Given the description of an element on the screen output the (x, y) to click on. 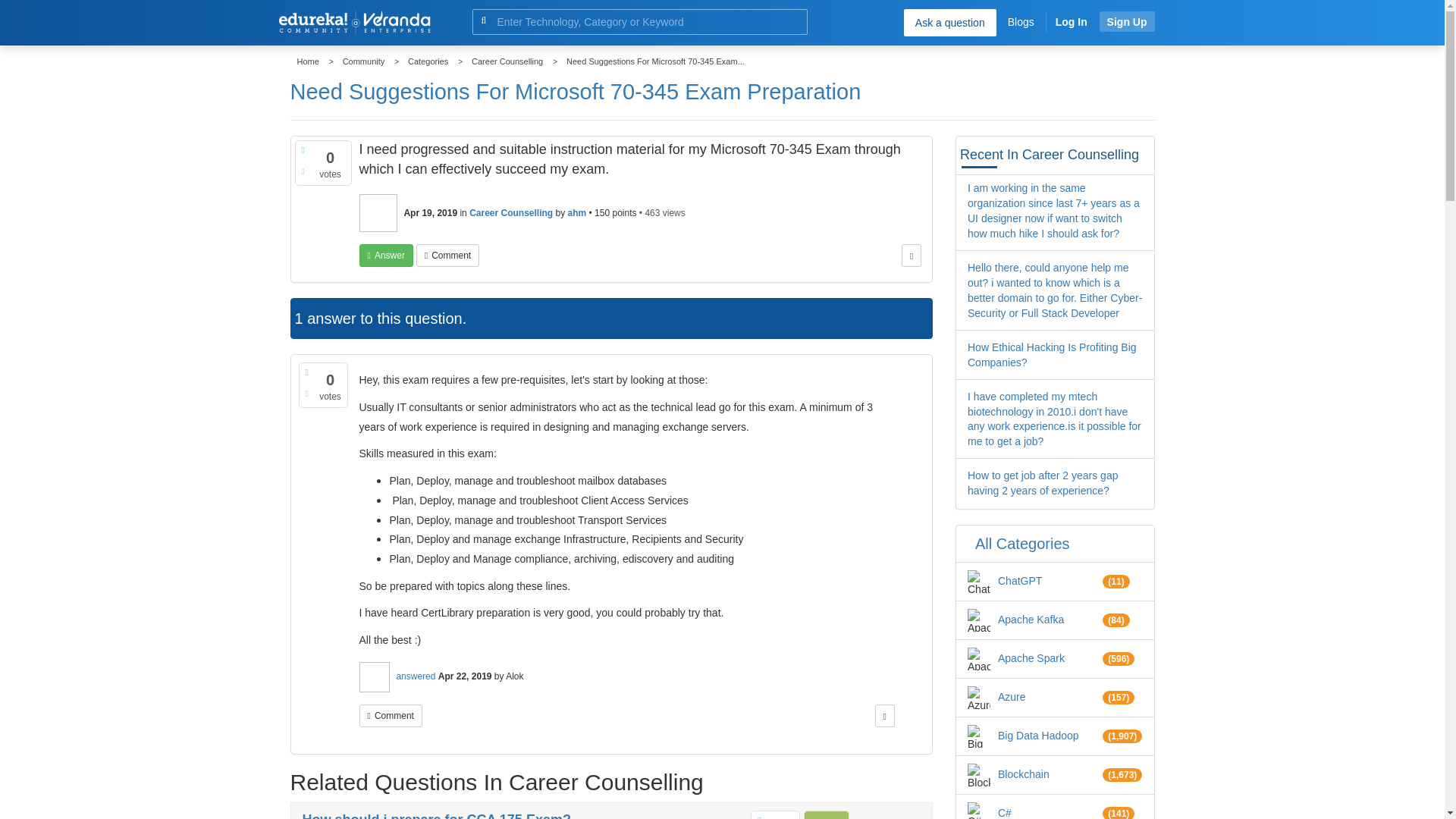
Blogs (1020, 21)
Add a comment on this question (447, 255)
Answer this question (386, 255)
Add a comment on this answer (390, 715)
Ask a question (949, 22)
